Given the description of an element on the screen output the (x, y) to click on. 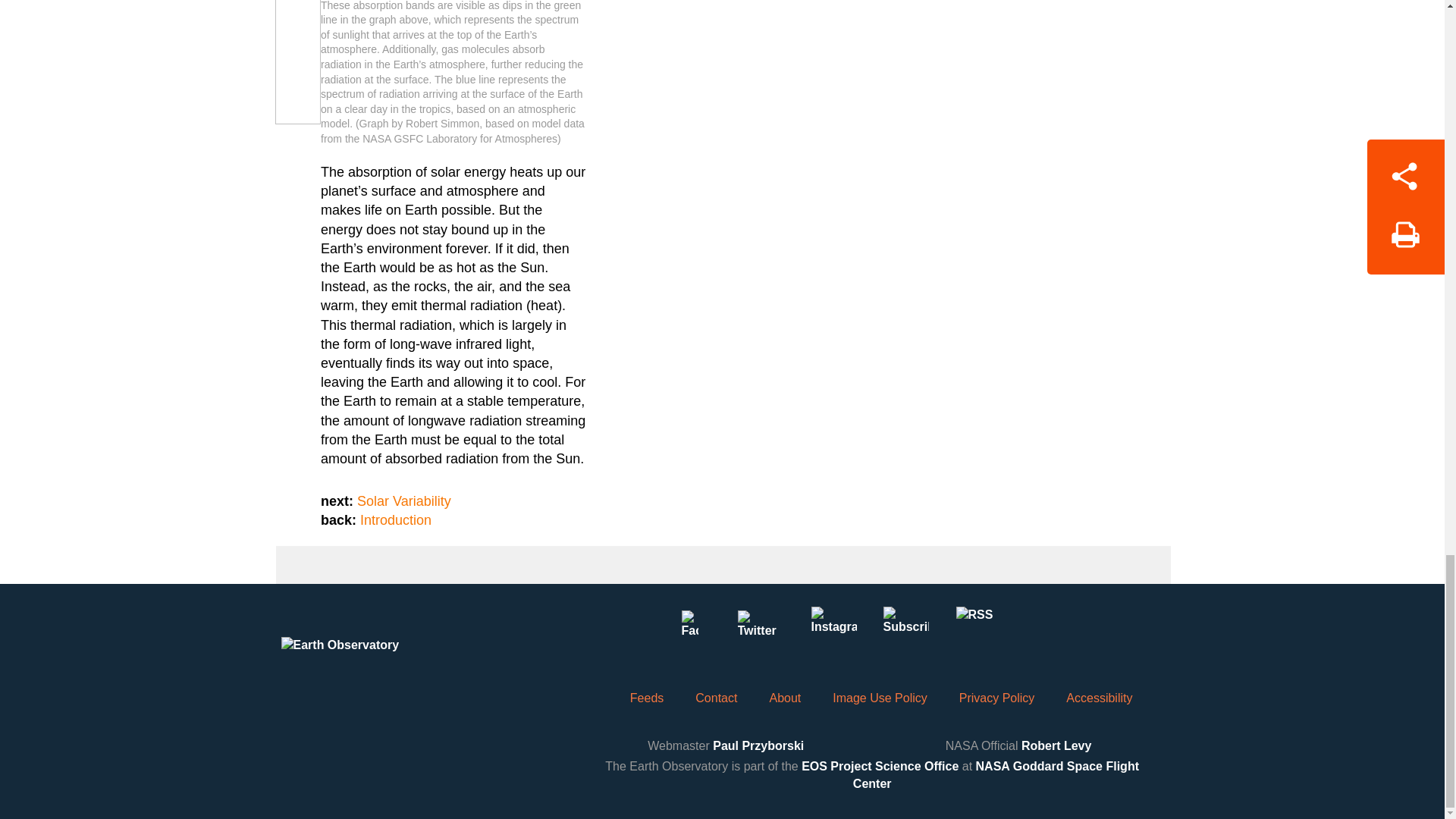
Earth Observatory (369, 659)
Instagram (833, 629)
Twitter (761, 629)
RSS (977, 629)
Subscribe (905, 629)
Facebook (689, 629)
